Given the description of an element on the screen output the (x, y) to click on. 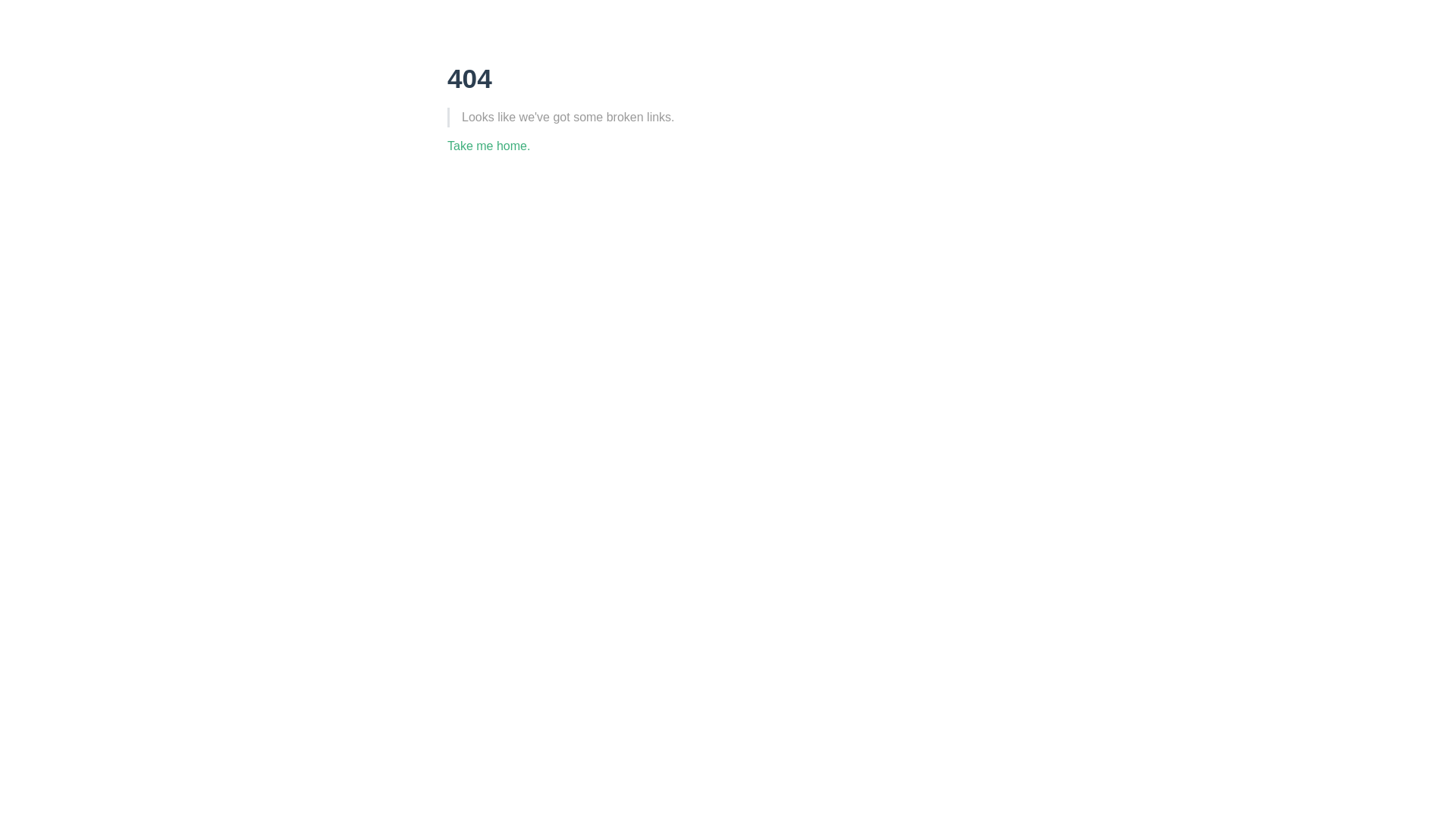
Take me home. Element type: text (488, 145)
